Given the description of an element on the screen output the (x, y) to click on. 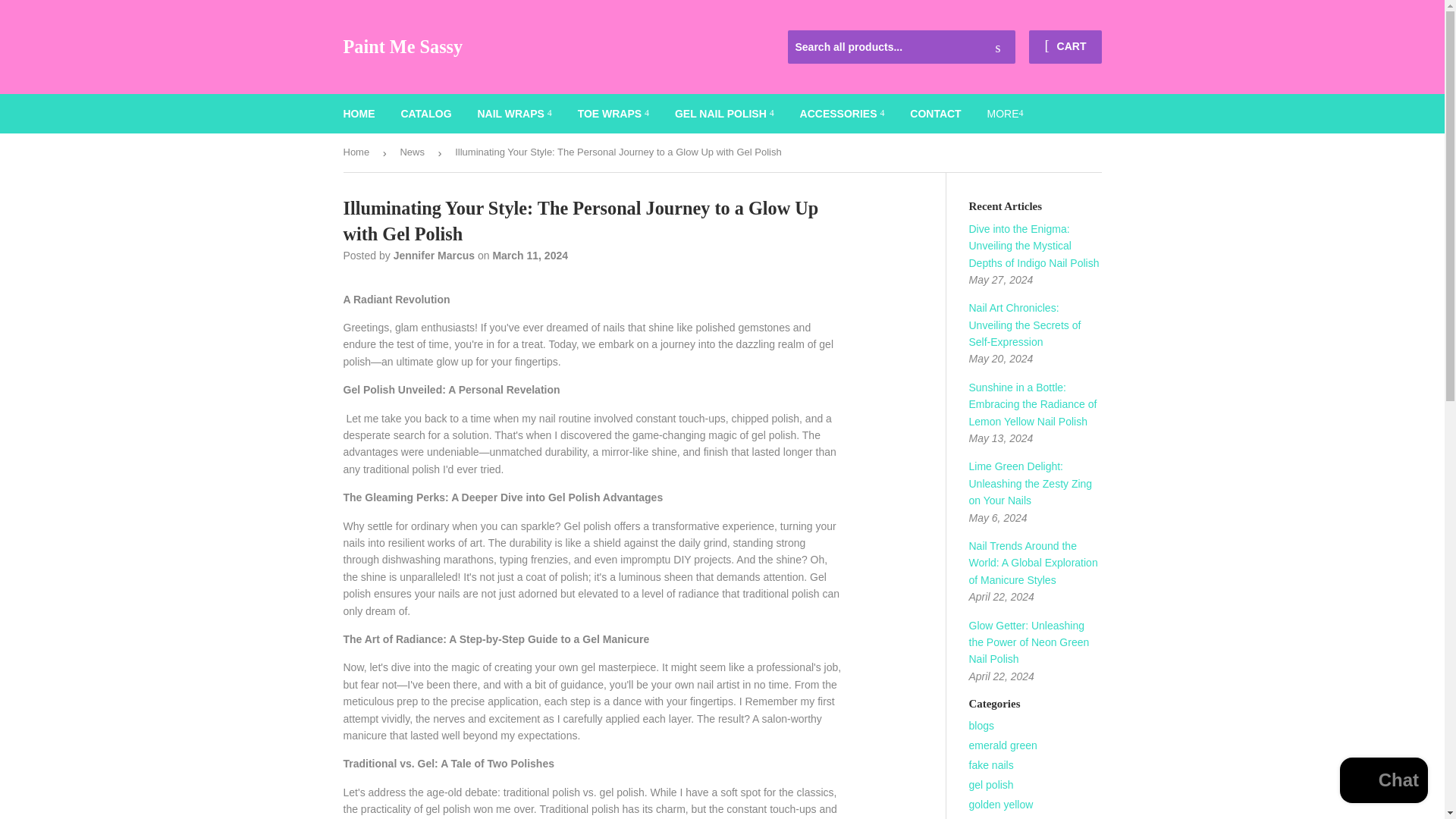
CART (1064, 46)
Paint Me Sassy (532, 46)
Show articles tagged golden yellow (1001, 804)
Show articles tagged gel polish (991, 784)
Show articles tagged fake nails (991, 765)
Show articles tagged emerald green (1002, 745)
Show articles tagged blogs (981, 725)
Shopify online store chat (1383, 781)
Search (997, 47)
